Given the description of an element on the screen output the (x, y) to click on. 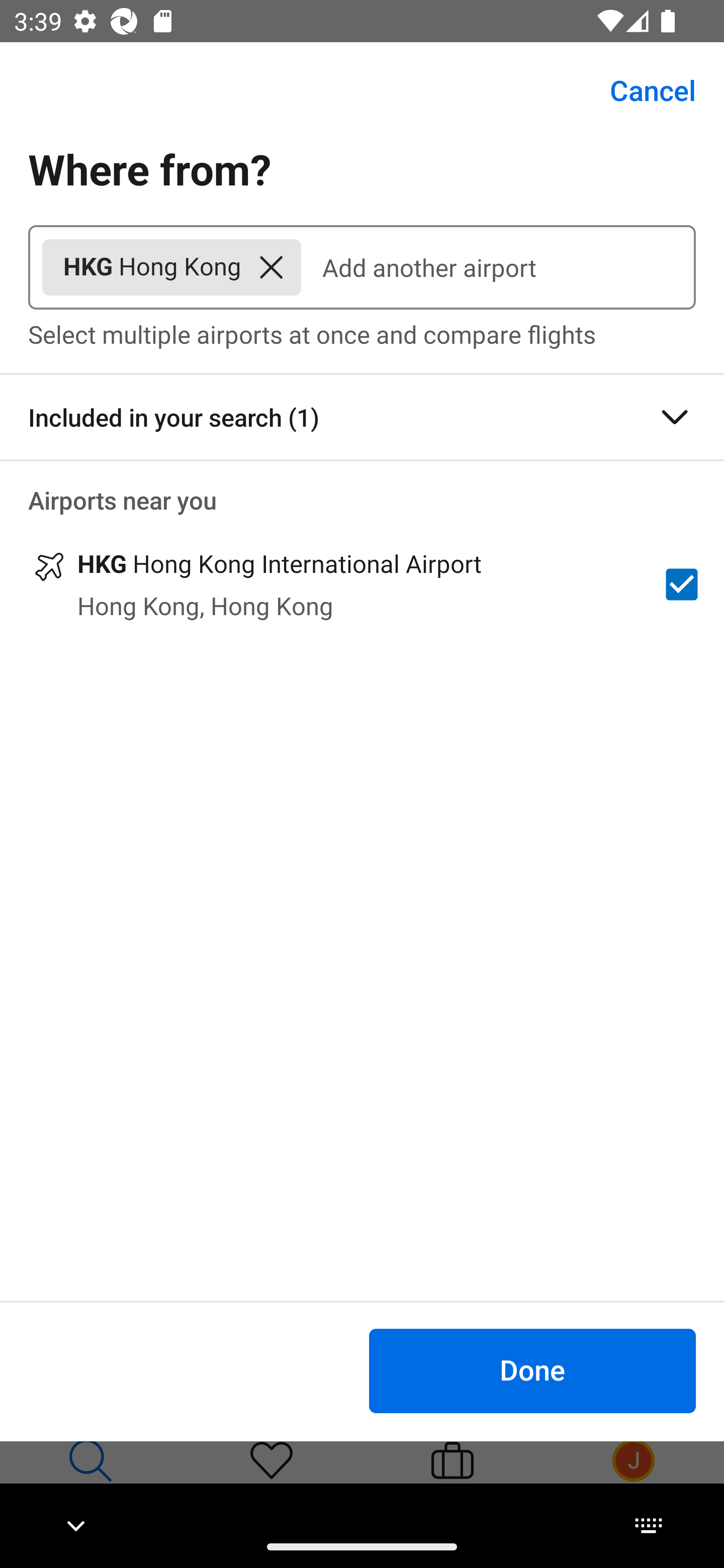
Cancel (641, 90)
Add another airport (498, 266)
HKG Hong Kong Remove HKG Hong Kong (171, 266)
Included in your search (1) (362, 416)
Done (532, 1370)
